Given the description of an element on the screen output the (x, y) to click on. 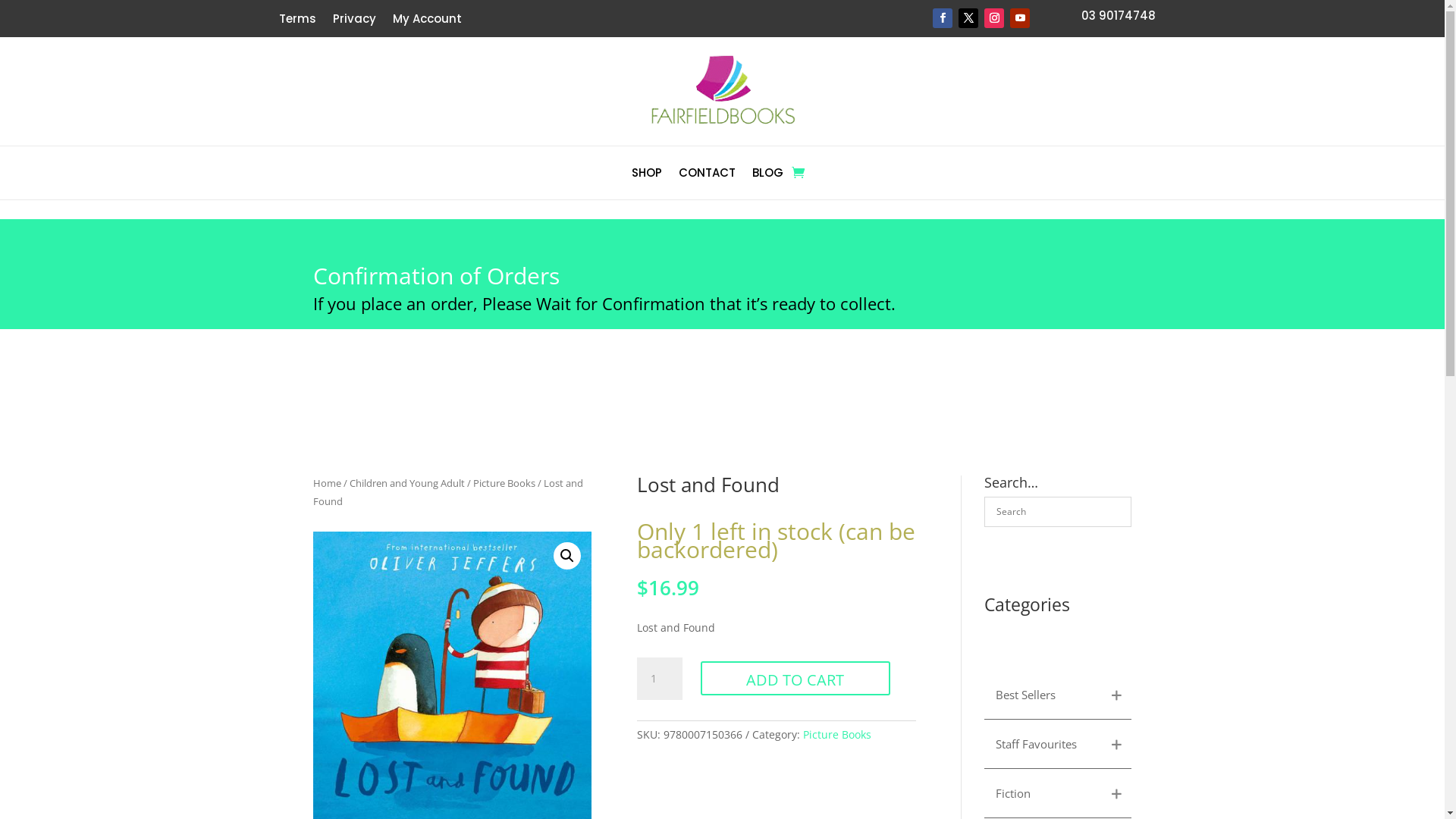
ADD TO CART Element type: text (795, 678)
Picture Books Element type: text (837, 734)
Privacy Element type: text (353, 21)
BLOG Element type: text (767, 175)
Follow on X Element type: hover (968, 18)
CONTACT Element type: text (706, 175)
Children and Young Adult Element type: text (406, 482)
Follow on Youtube Element type: hover (1019, 18)
Best Sellers Element type: text (1042, 694)
Terms Element type: text (297, 21)
My Account Element type: text (426, 21)
SHOP Element type: text (646, 175)
Follow on Facebook Element type: hover (942, 18)
Staff Favourites Element type: text (1042, 743)
Home Element type: text (326, 482)
Fiction Element type: text (1042, 792)
Follow on Instagram Element type: hover (994, 18)
FairField._Logo-1 Element type: hover (721, 90)
Picture Books Element type: text (504, 482)
